Given the description of an element on the screen output the (x, y) to click on. 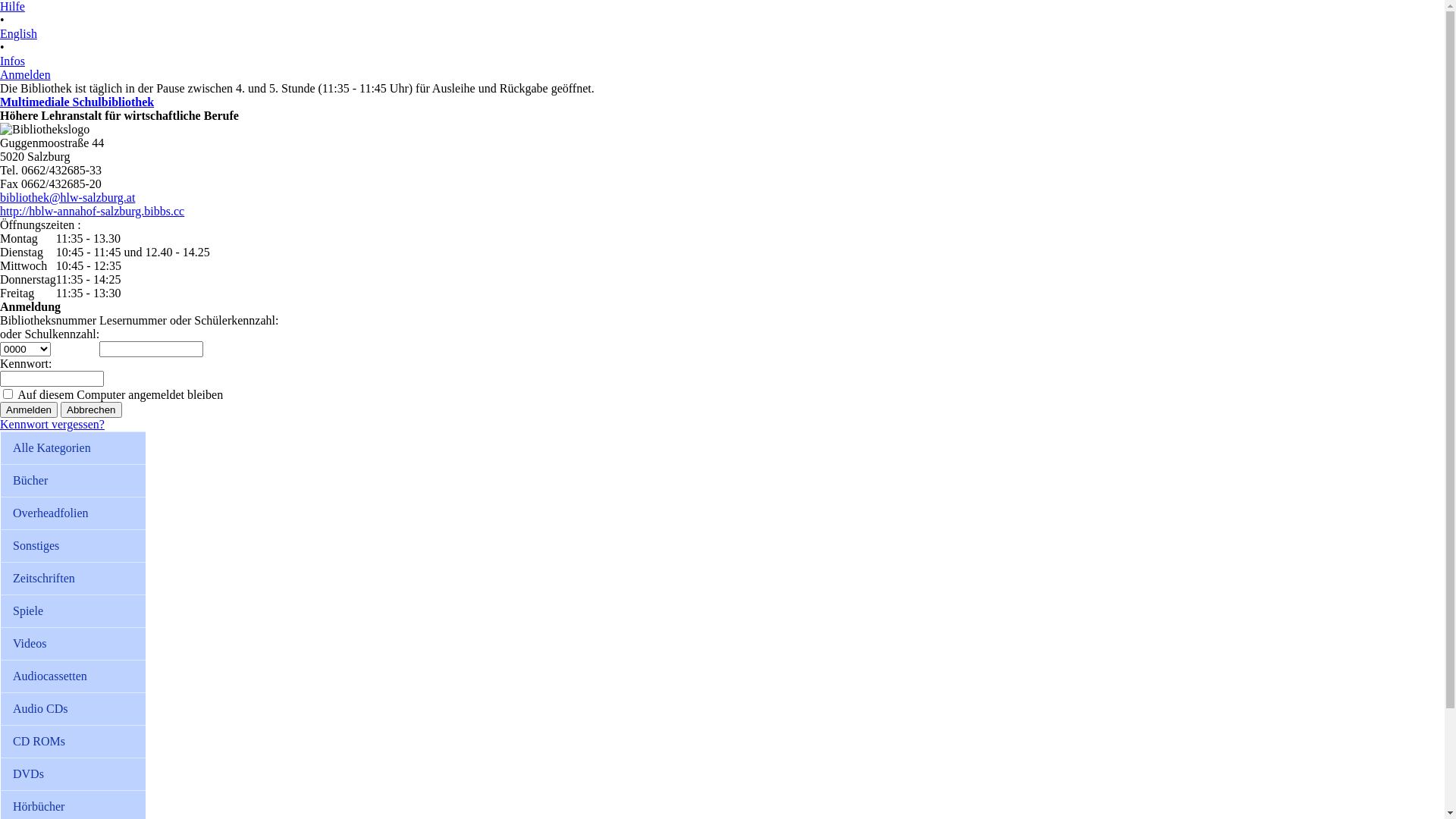
Videos Element type: text (72, 643)
http://hblw-annahof-salzburg.bibbs.cc Element type: text (92, 210)
Anmelden Element type: text (25, 74)
DVDs Element type: text (72, 773)
English Element type: text (18, 33)
Multimediale Schulbibliothek Element type: text (76, 101)
Spiele Element type: text (72, 610)
Zeitschriften Element type: text (72, 577)
Alle Kategorien Element type: text (72, 447)
Anmelden Element type: text (28, 409)
Overheadfolien Element type: text (72, 512)
Audiocassetten Element type: text (72, 675)
Sonstiges Element type: text (72, 545)
Abbrechen Element type: text (90, 409)
Infos Element type: text (12, 60)
CD ROMs Element type: text (72, 740)
Kennwort vergessen? Element type: text (52, 423)
Hilfe Element type: text (12, 6)
bibliothek@hlw-salzburg.at Element type: text (67, 197)
Audio CDs Element type: text (72, 708)
